Given the description of an element on the screen output the (x, y) to click on. 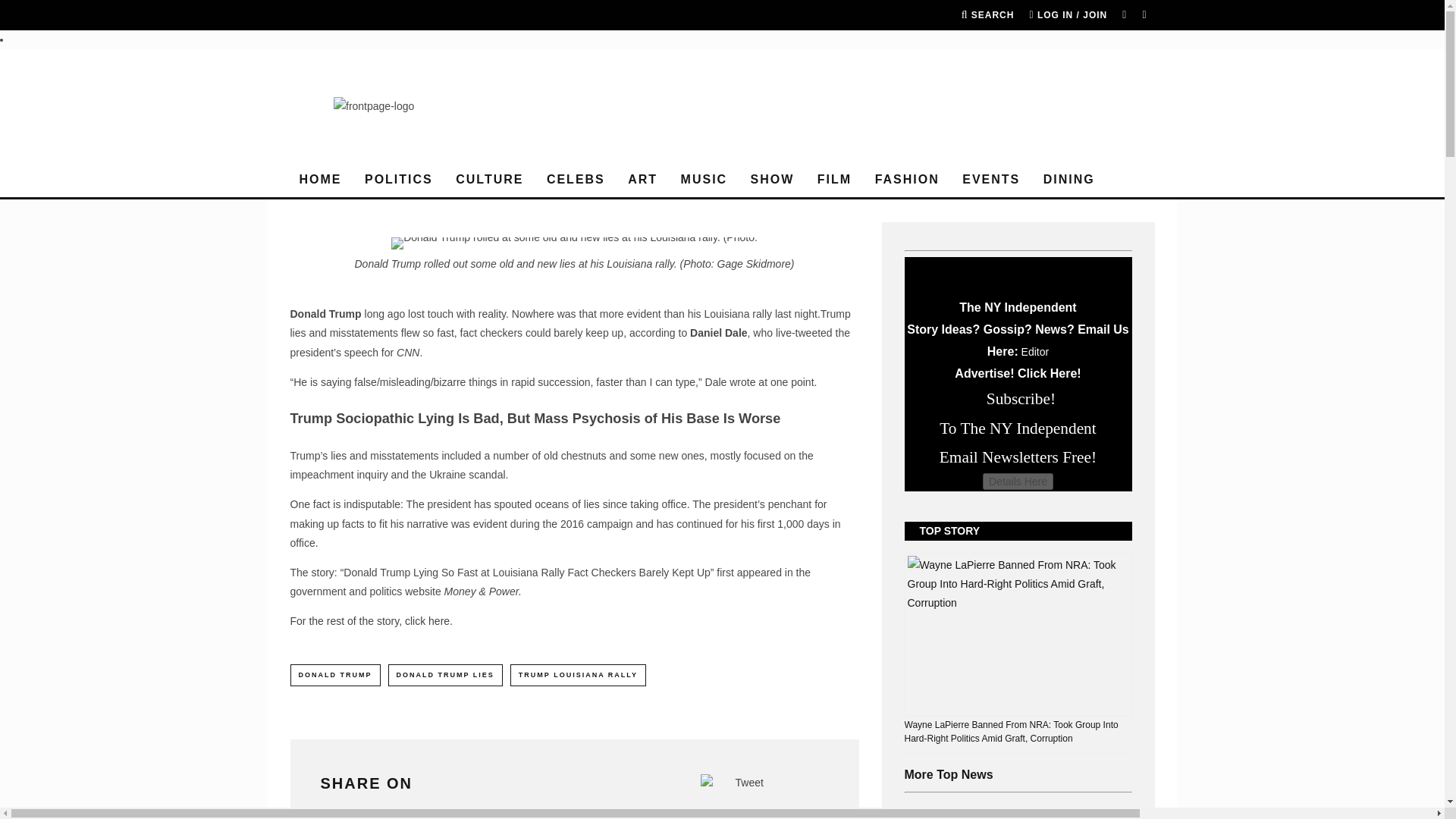
SEARCH (987, 15)
Search (987, 15)
Details Here (1017, 481)
